Given the description of an element on the screen output the (x, y) to click on. 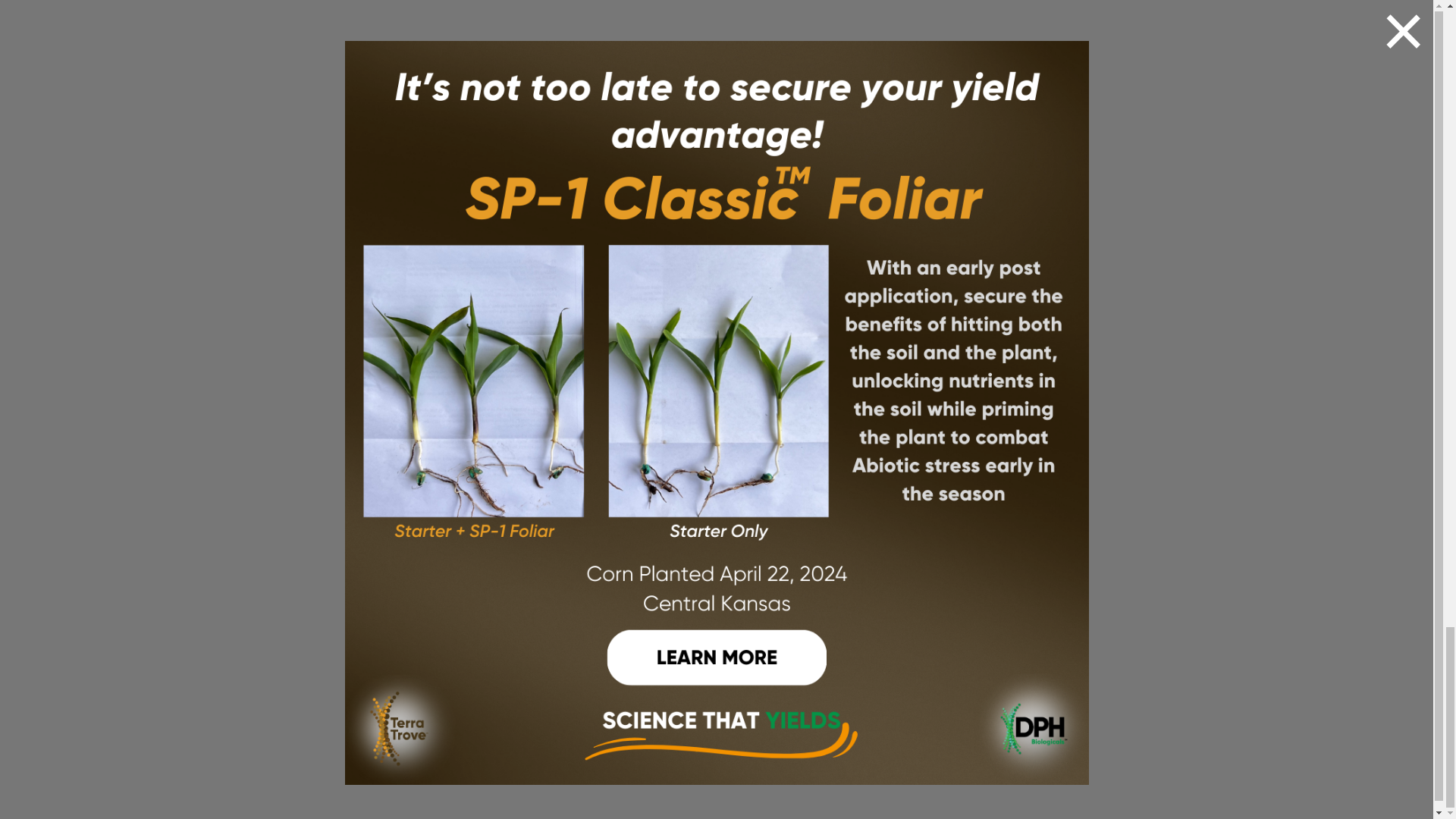
DPH Logo (232, 428)
Follow on Facebook (904, 554)
